Given the description of an element on the screen output the (x, y) to click on. 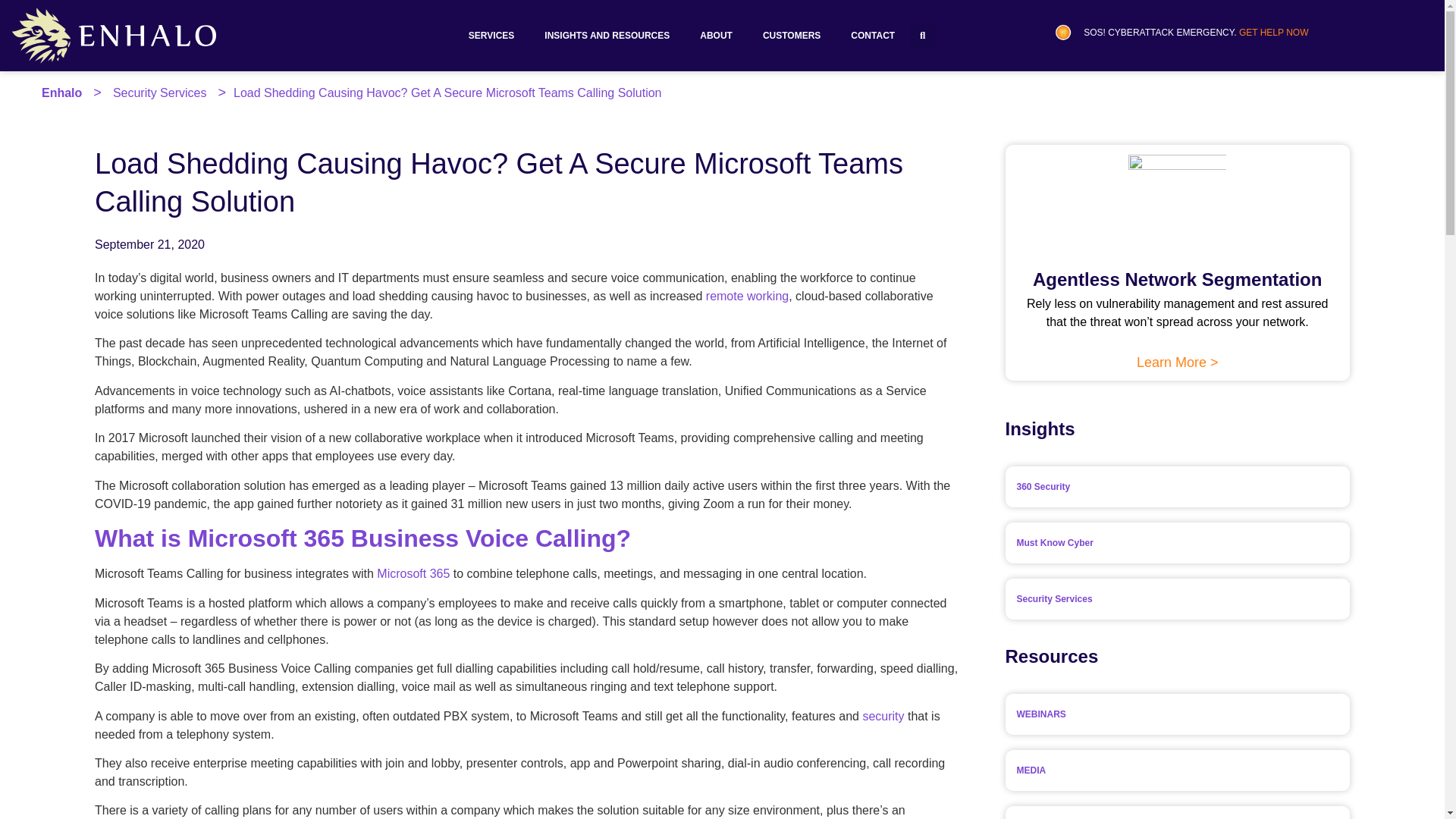
Microsoft 365 (413, 573)
CONTACT (872, 35)
GET HELP NOW (1273, 32)
remote working (747, 295)
Enhalo (61, 92)
INSIGHTS AND RESOURCES (606, 35)
SERVICES (490, 35)
Enhalo (61, 92)
CUSTOMERS (791, 35)
security (882, 716)
SOS! CYBERATTACK EMERGENCY. (1161, 32)
Security Services (160, 92)
Security Services (160, 92)
ABOUT (716, 35)
